Given the description of an element on the screen output the (x, y) to click on. 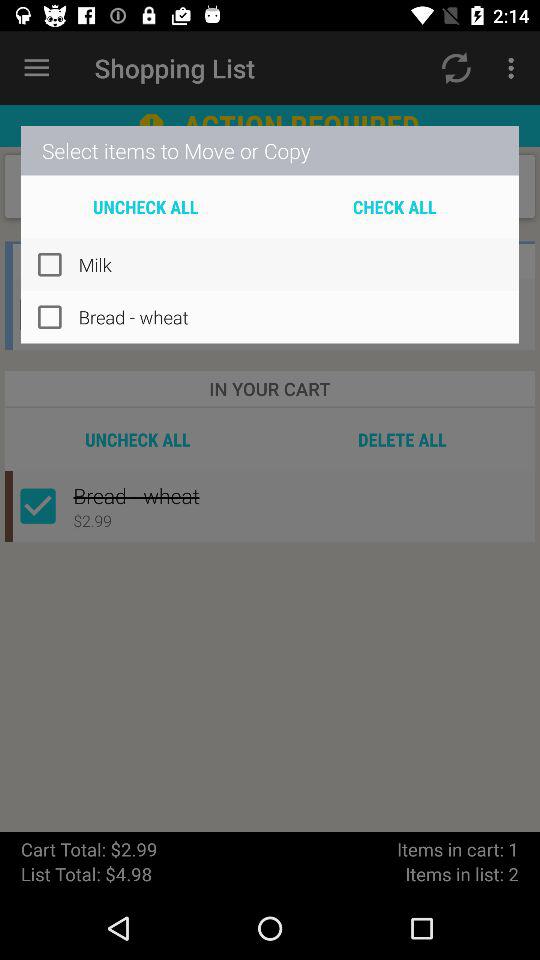
open item next to uncheck all icon (394, 206)
